Given the description of an element on the screen output the (x, y) to click on. 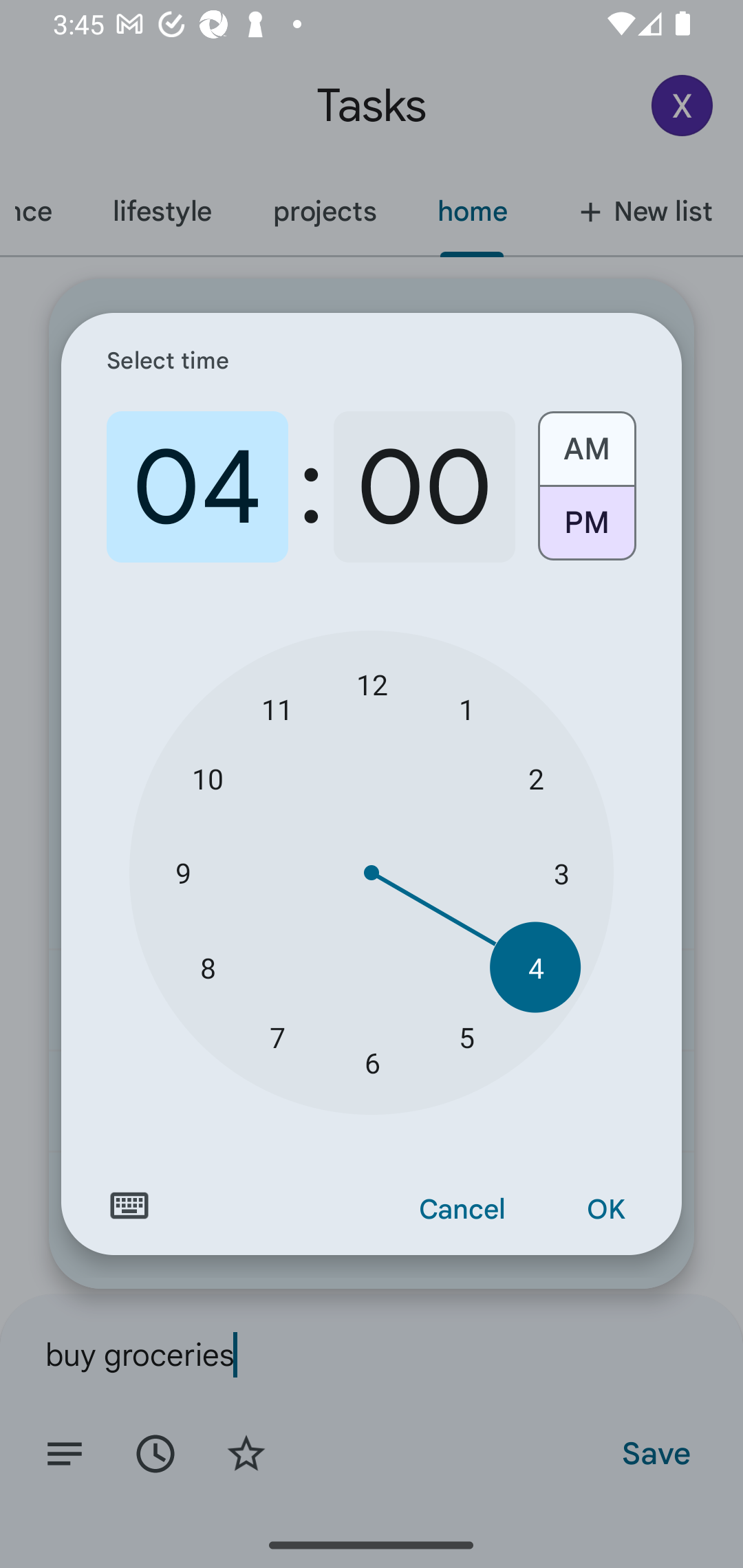
AM (586, 441)
04 4 o'clock (197, 486)
00 0 minutes (424, 486)
PM (586, 529)
12 12 o'clock (371, 683)
11 11 o'clock (276, 708)
1 1 o'clock (466, 708)
10 10 o'clock (207, 778)
2 2 o'clock (535, 778)
9 9 o'clock (182, 872)
3 3 o'clock (561, 872)
8 8 o'clock (207, 966)
4 4 o'clock (535, 966)
7 7 o'clock (276, 1035)
5 5 o'clock (466, 1035)
6 6 o'clock (371, 1062)
Switch to text input mode for the time input. (128, 1205)
Cancel (462, 1209)
OK (605, 1209)
